Given the description of an element on the screen output the (x, y) to click on. 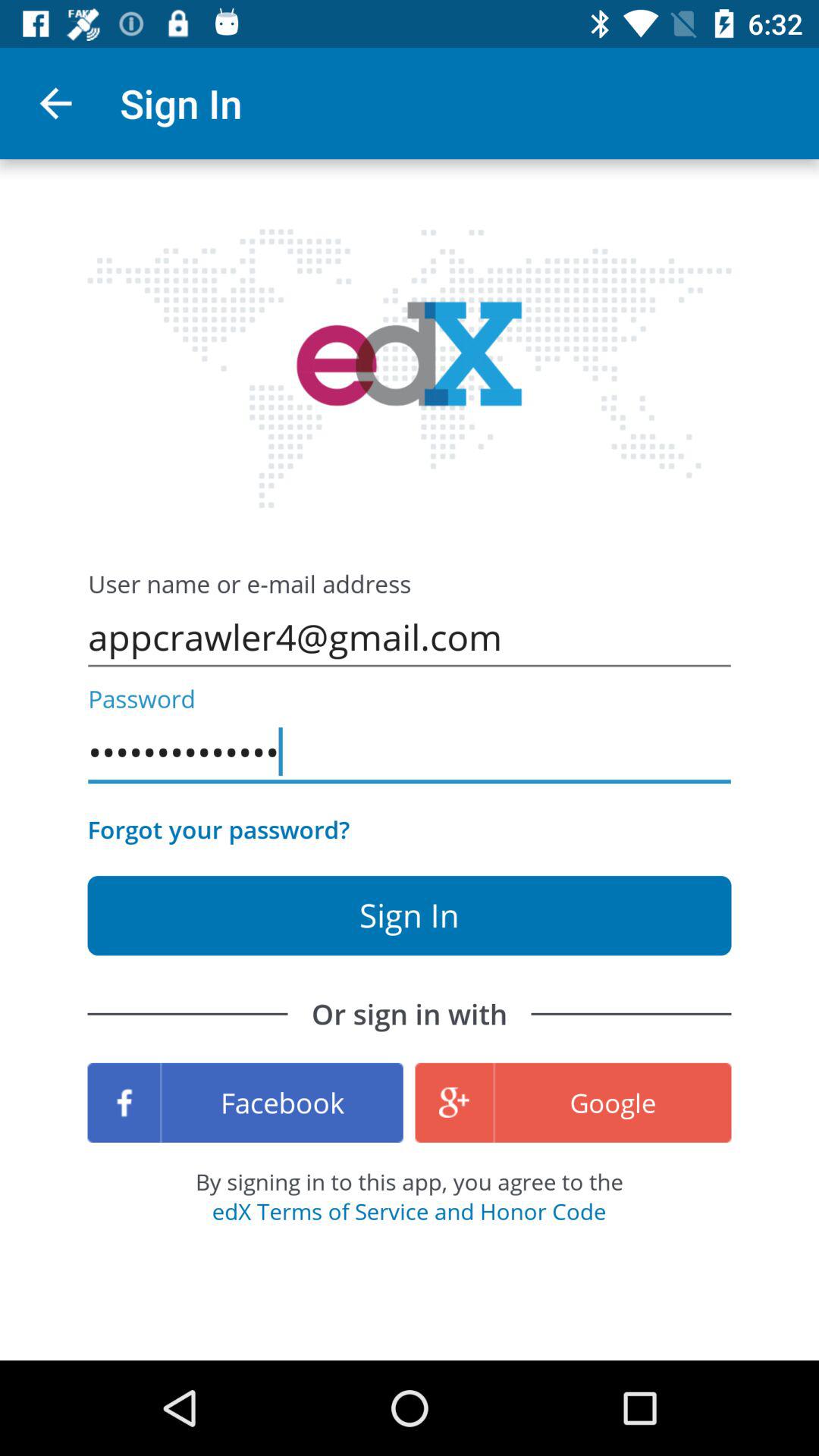
select the icon above appcrawler3116 item (409, 637)
